Given the description of an element on the screen output the (x, y) to click on. 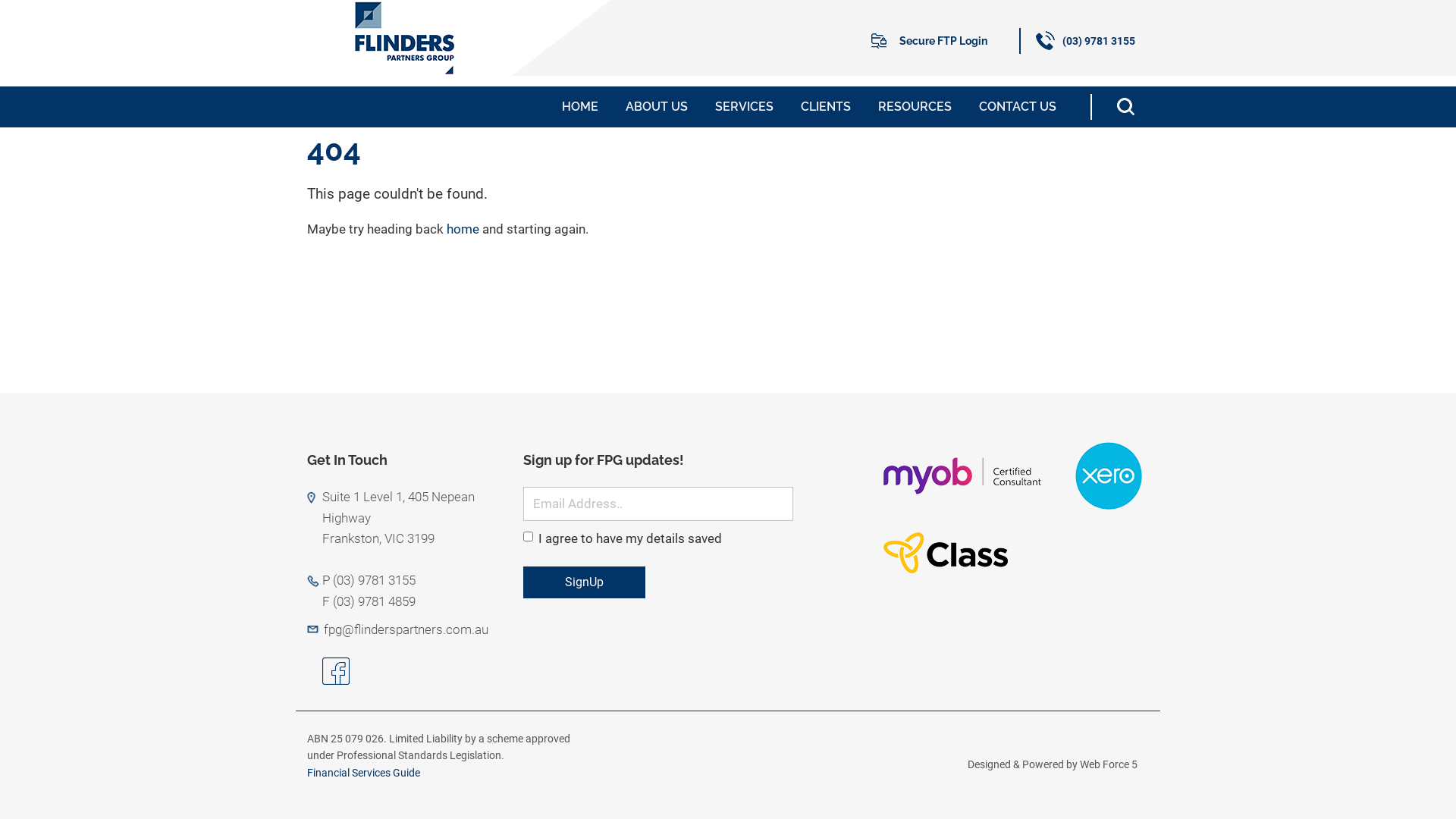
home Element type: text (462, 228)
ABOUT US Element type: text (656, 106)
RESOURCES Element type: text (914, 106)
SERVICES Element type: text (744, 106)
fpg@flinderspartners.com.au Element type: text (405, 629)
(03) 9781 3155 Element type: text (1091, 41)
CLIENTS Element type: text (825, 106)
(03) 9781 3155 Element type: text (373, 579)
CONTACT US Element type: text (1017, 106)
HOME Element type: text (579, 106)
Secure FTP Login Element type: text (945, 41)
(03) 9781 4859 Element type: text (373, 600)
Financial Services Guide  Element type: text (364, 772)
Designed & Powered by Web Force 5 Element type: text (1052, 764)
SignUp Element type: text (584, 582)
